Given the description of an element on the screen output the (x, y) to click on. 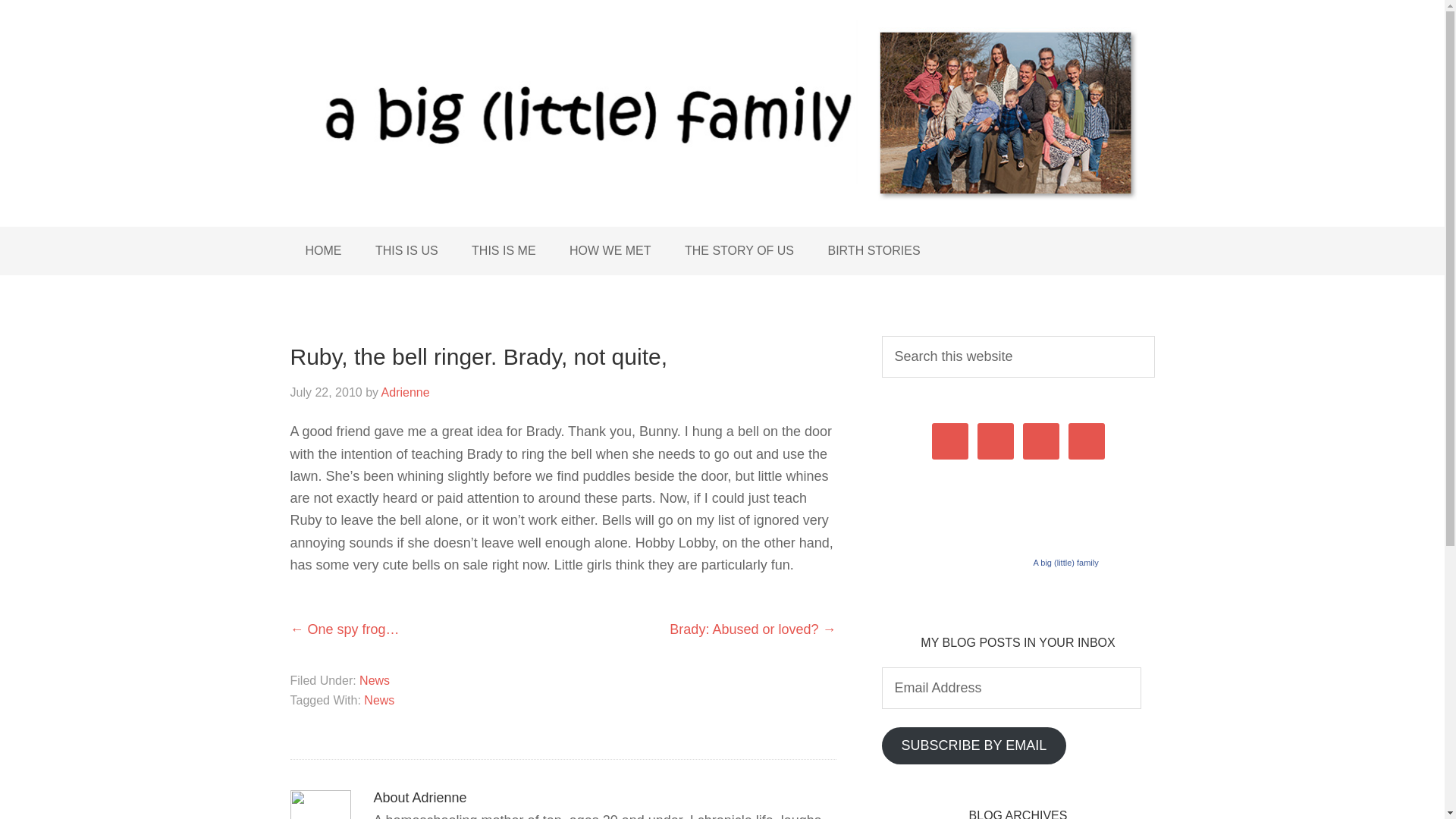
BIRTH STORIES (873, 250)
SUBSCRIBE BY EMAIL (972, 745)
THIS IS US (405, 250)
Adrienne (405, 391)
News (379, 699)
News (374, 680)
HOW WE MET (610, 250)
THE STORY OF US (739, 250)
HOME (322, 250)
THIS IS ME (503, 250)
